Given the description of an element on the screen output the (x, y) to click on. 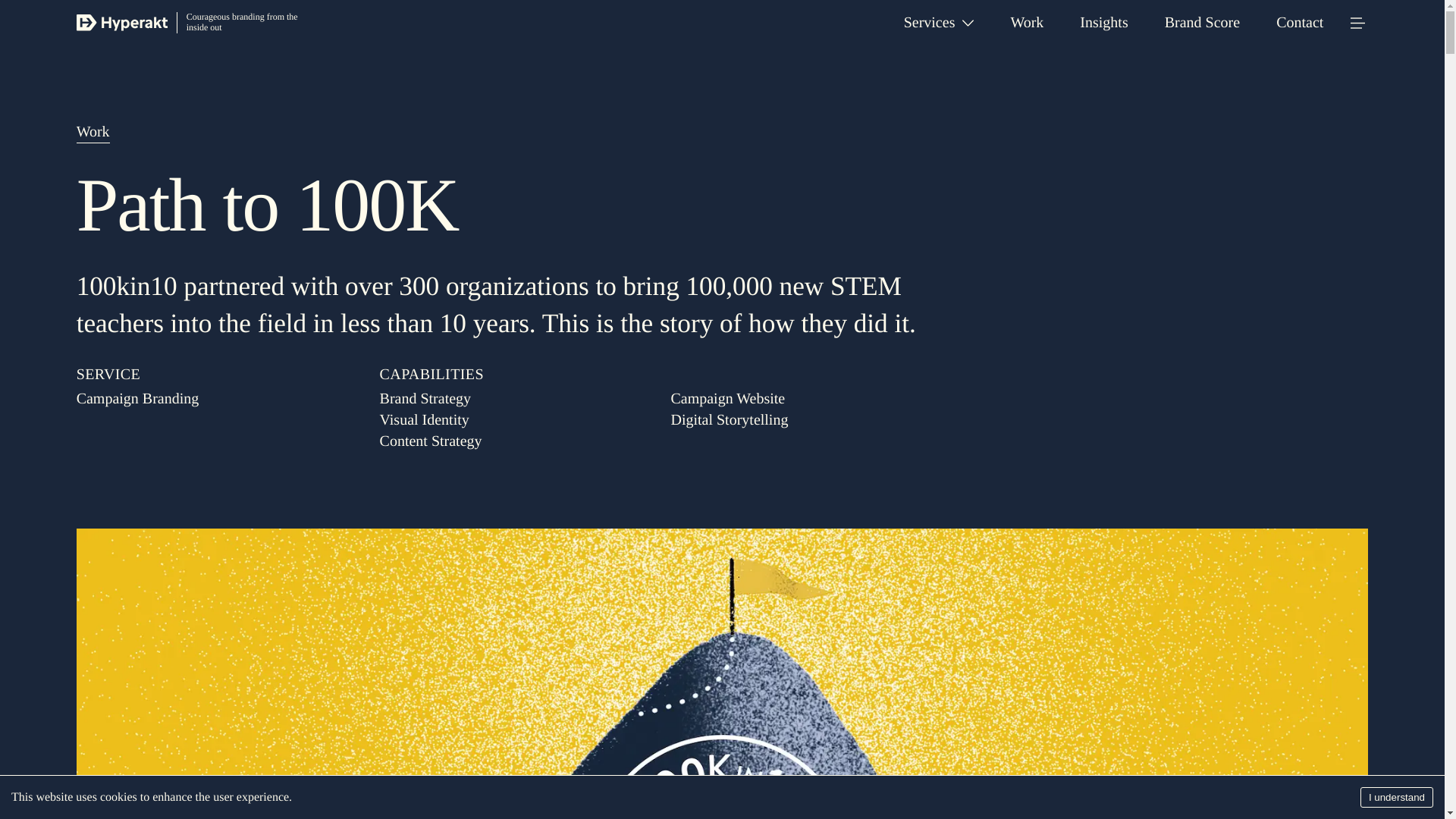
Campaign Branding (216, 398)
Visual Identity (424, 419)
Hyperakt (122, 22)
Content Strategy (430, 441)
Brand Strategy (425, 398)
Digital Storytelling (728, 419)
Work (1026, 22)
Work (93, 132)
Hyperakt (122, 22)
Campaign Website (726, 398)
